Given the description of an element on the screen output the (x, y) to click on. 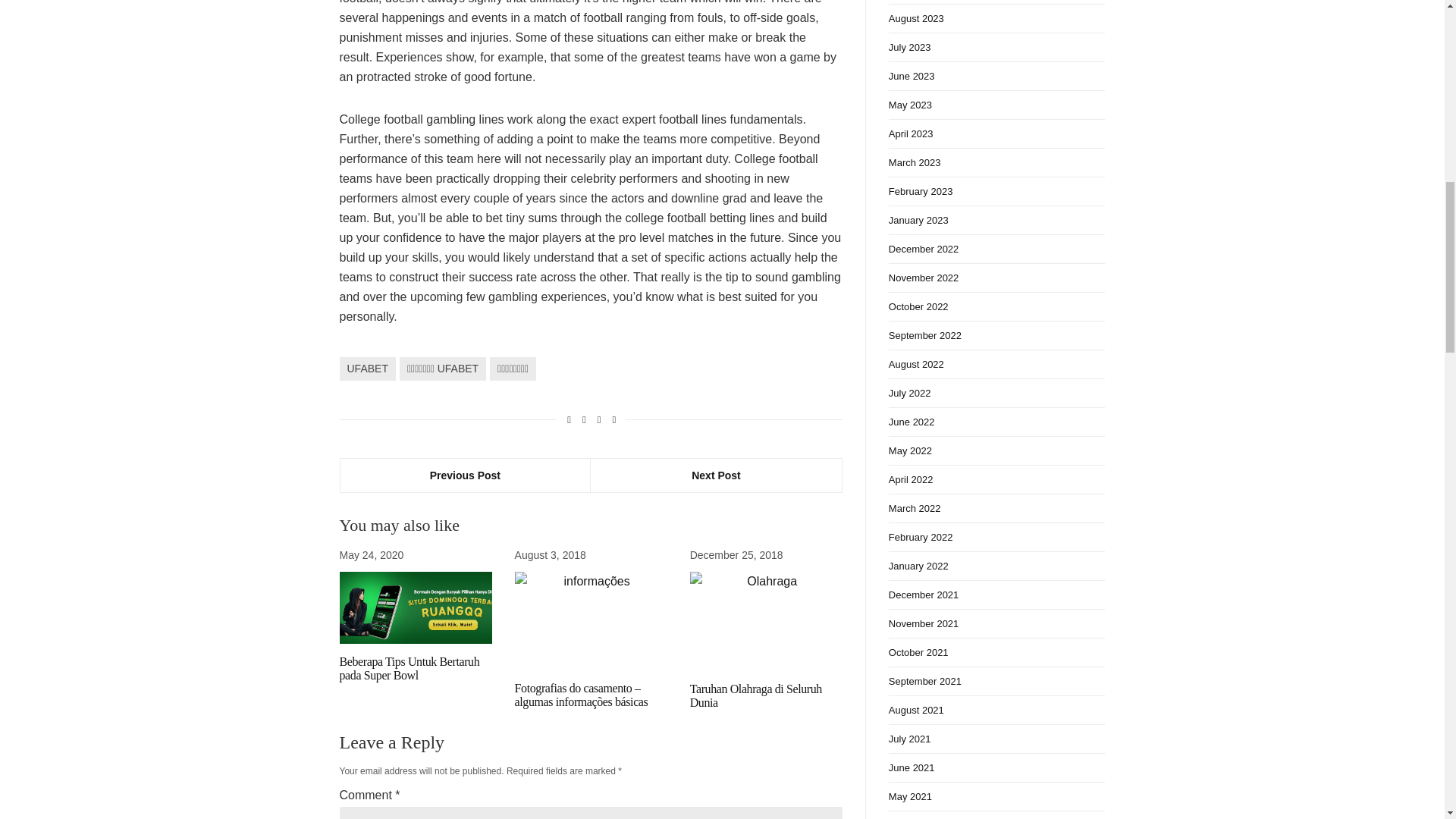
Next Post (716, 475)
Taruhan Olahraga di Seluruh Dunia (756, 695)
Beberapa Tips Untuk Bertaruh pada Super Bowl (409, 668)
UFABET (367, 368)
Previous Post (465, 475)
